Given the description of an element on the screen output the (x, y) to click on. 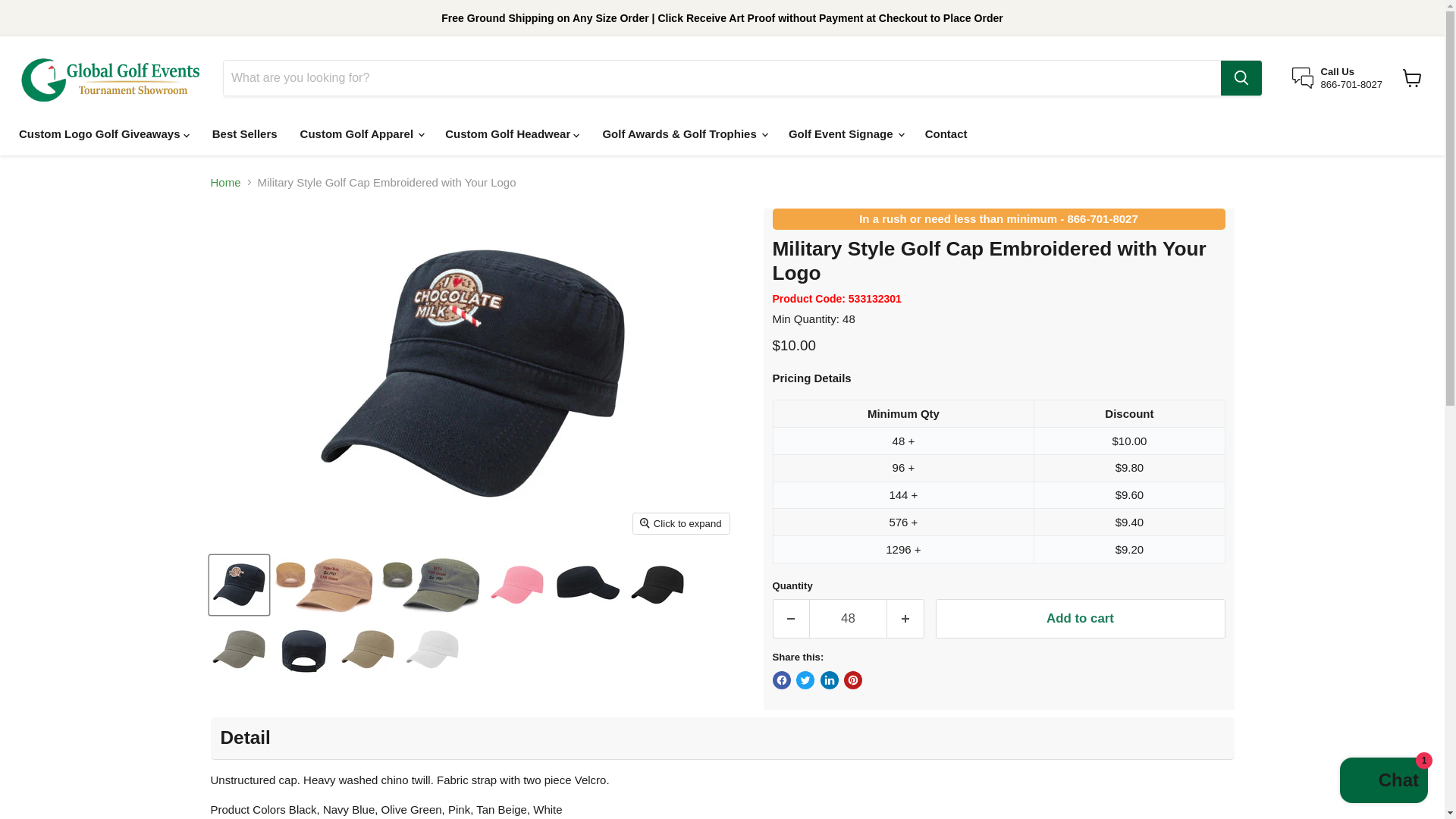
Shopify online store chat (1383, 781)
View cart (1411, 78)
48 (847, 618)
